Given the description of an element on the screen output the (x, y) to click on. 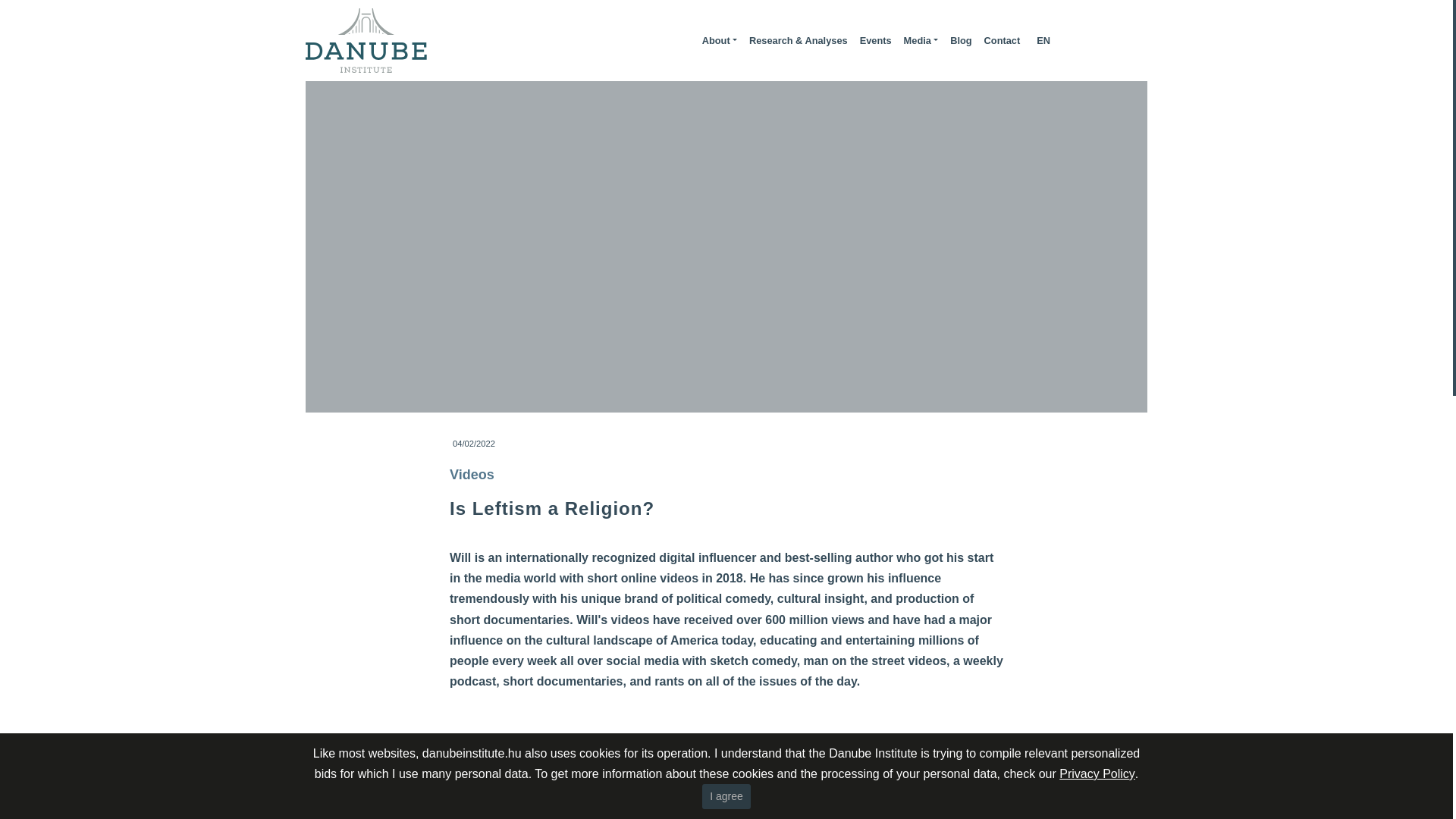
About (718, 40)
Contact (1002, 40)
Events (875, 40)
Media (921, 40)
EN (1043, 40)
Blog (959, 40)
About (718, 40)
Blog (959, 40)
Contact (1002, 40)
Media (921, 40)
